Given the description of an element on the screen output the (x, y) to click on. 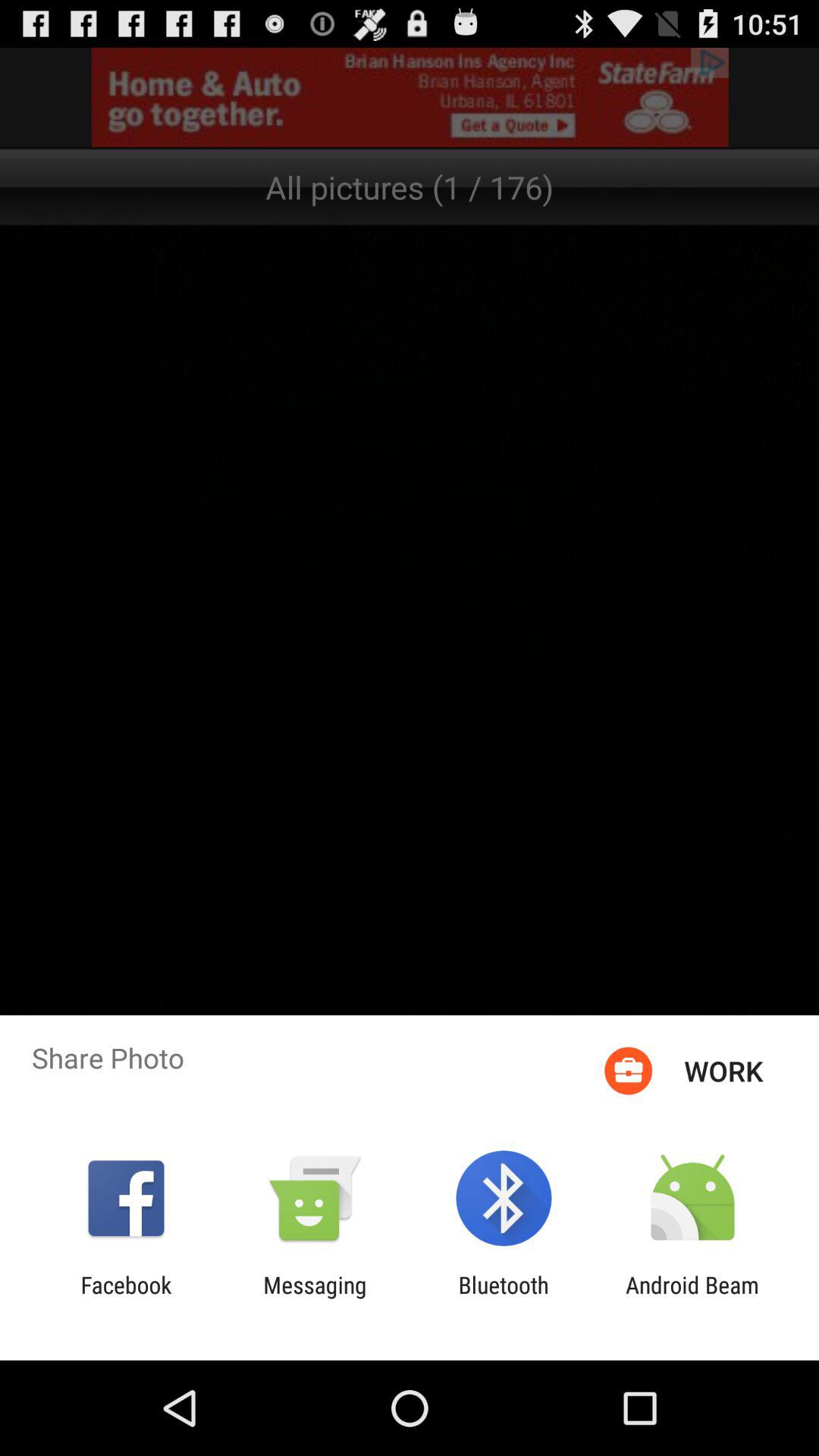
choose bluetooth app (503, 1298)
